Given the description of an element on the screen output the (x, y) to click on. 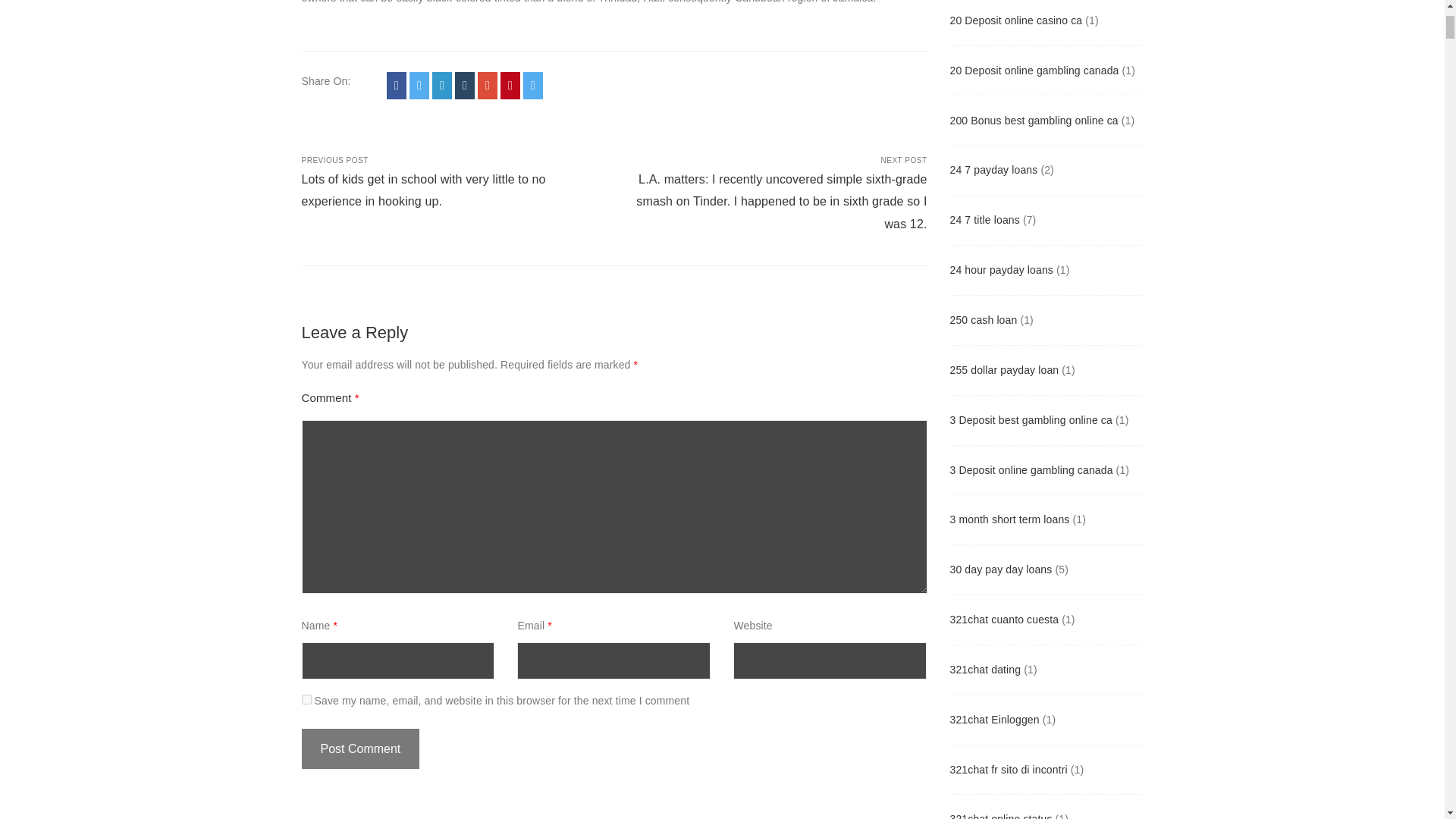
Post Comment (360, 748)
yes (306, 699)
Post Comment (360, 748)
